Given the description of an element on the screen output the (x, y) to click on. 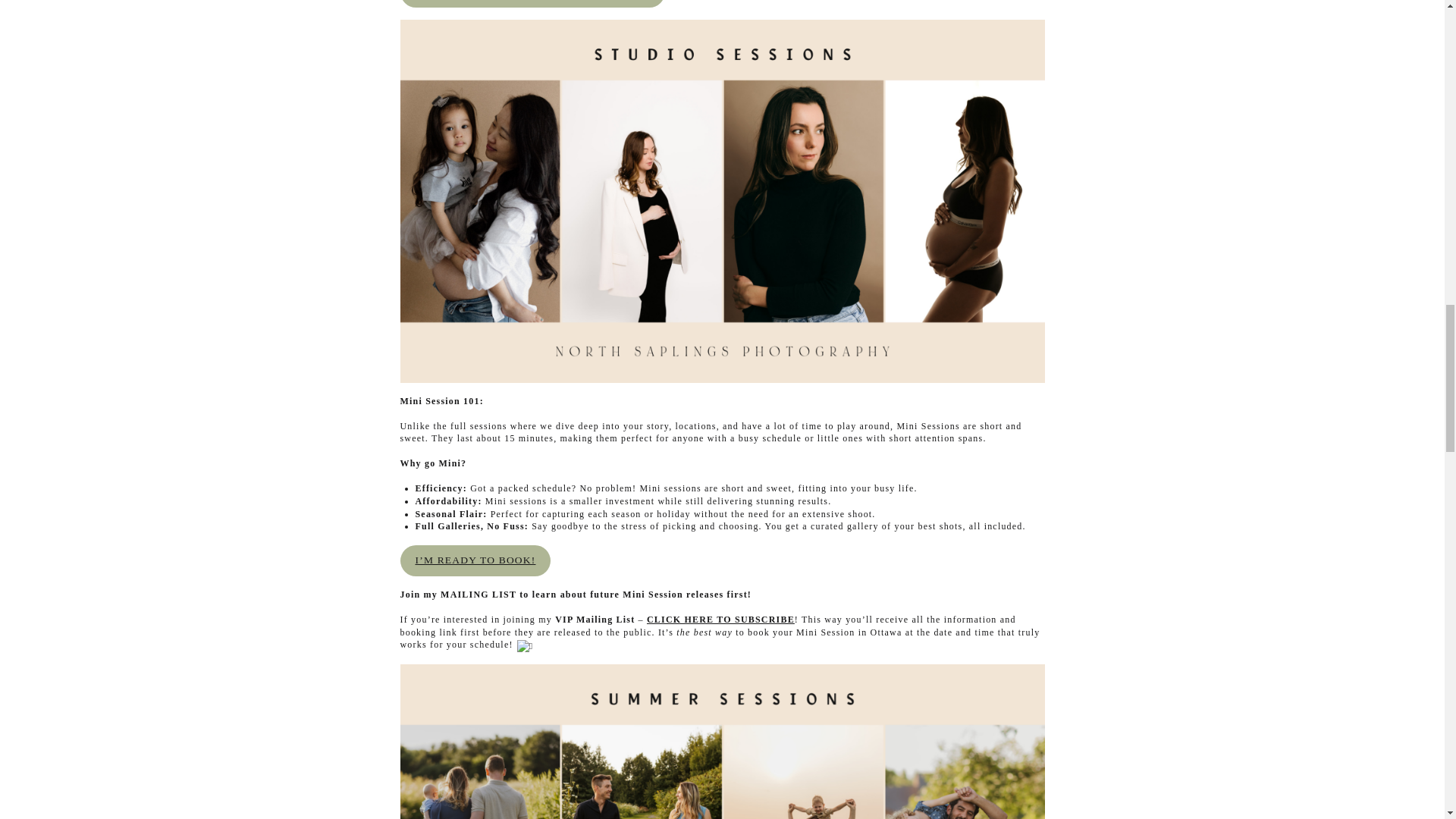
SPOTS ARE LIMITED! CHOOSE YOUR DAY! (532, 3)
CLICK HERE TO SUBSCRIBE (720, 619)
